Given the description of an element on the screen output the (x, y) to click on. 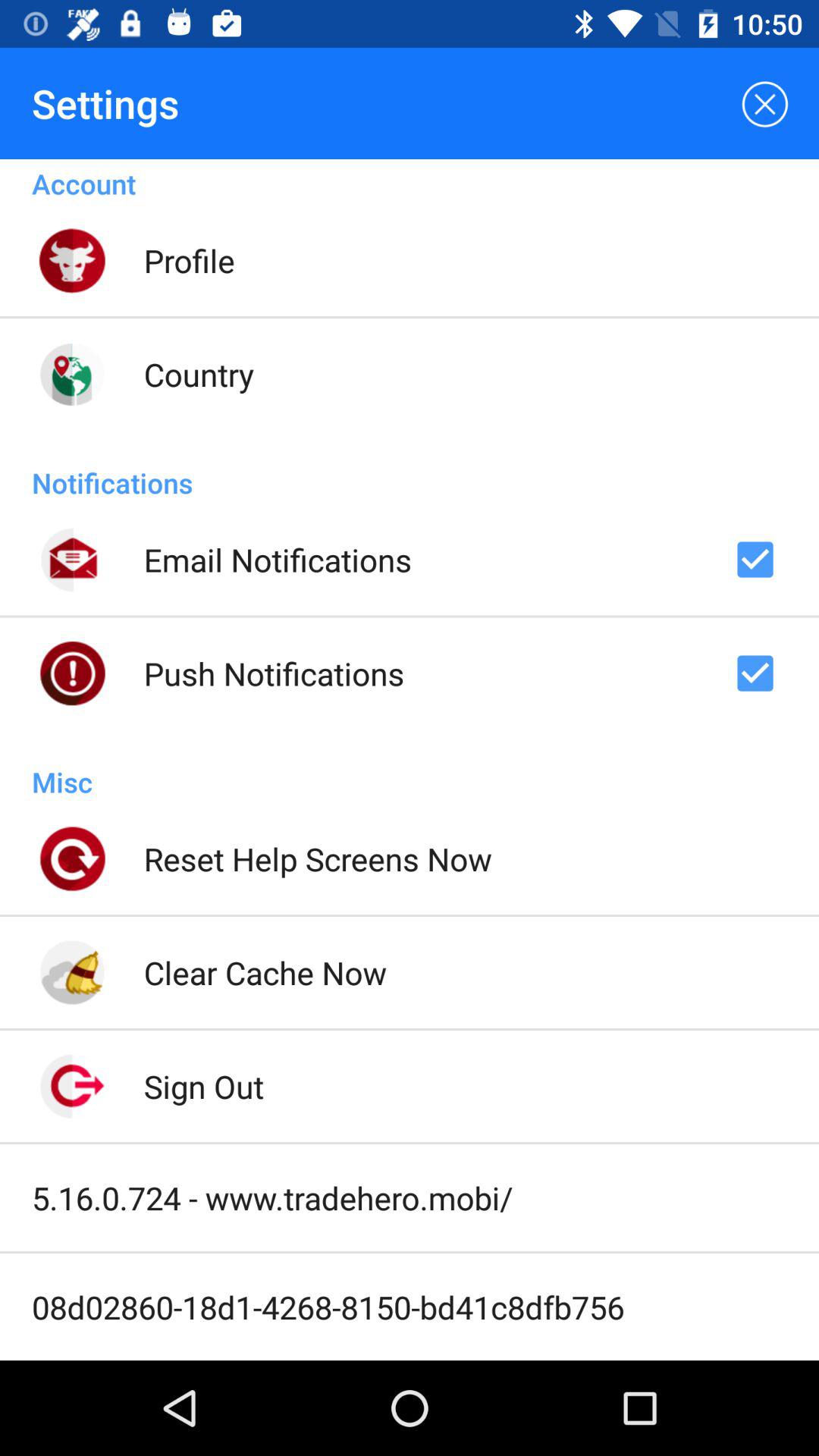
jump until the account item (409, 180)
